Given the description of an element on the screen output the (x, y) to click on. 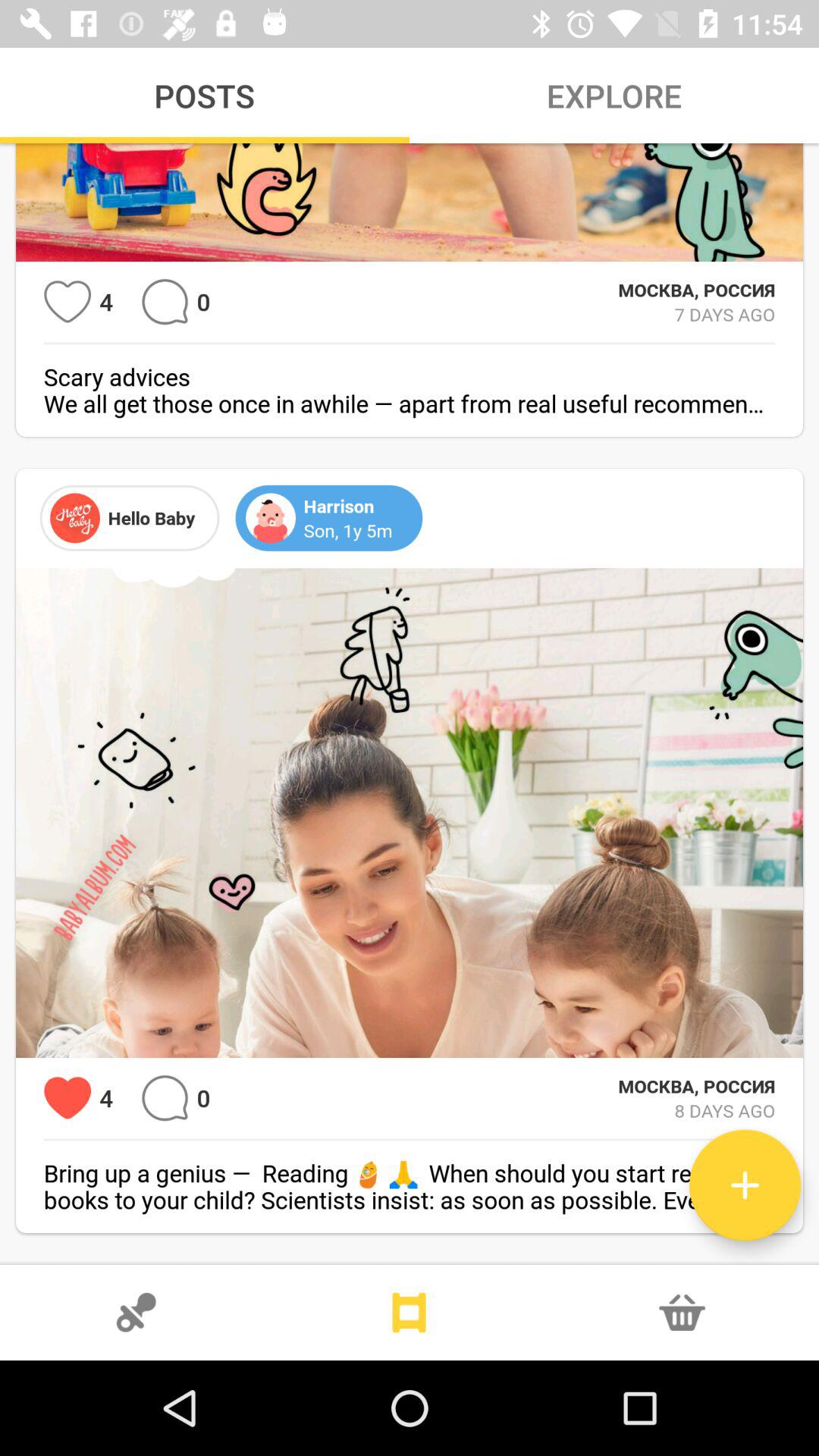
has had 4 loves (67, 1098)
